Given the description of an element on the screen output the (x, y) to click on. 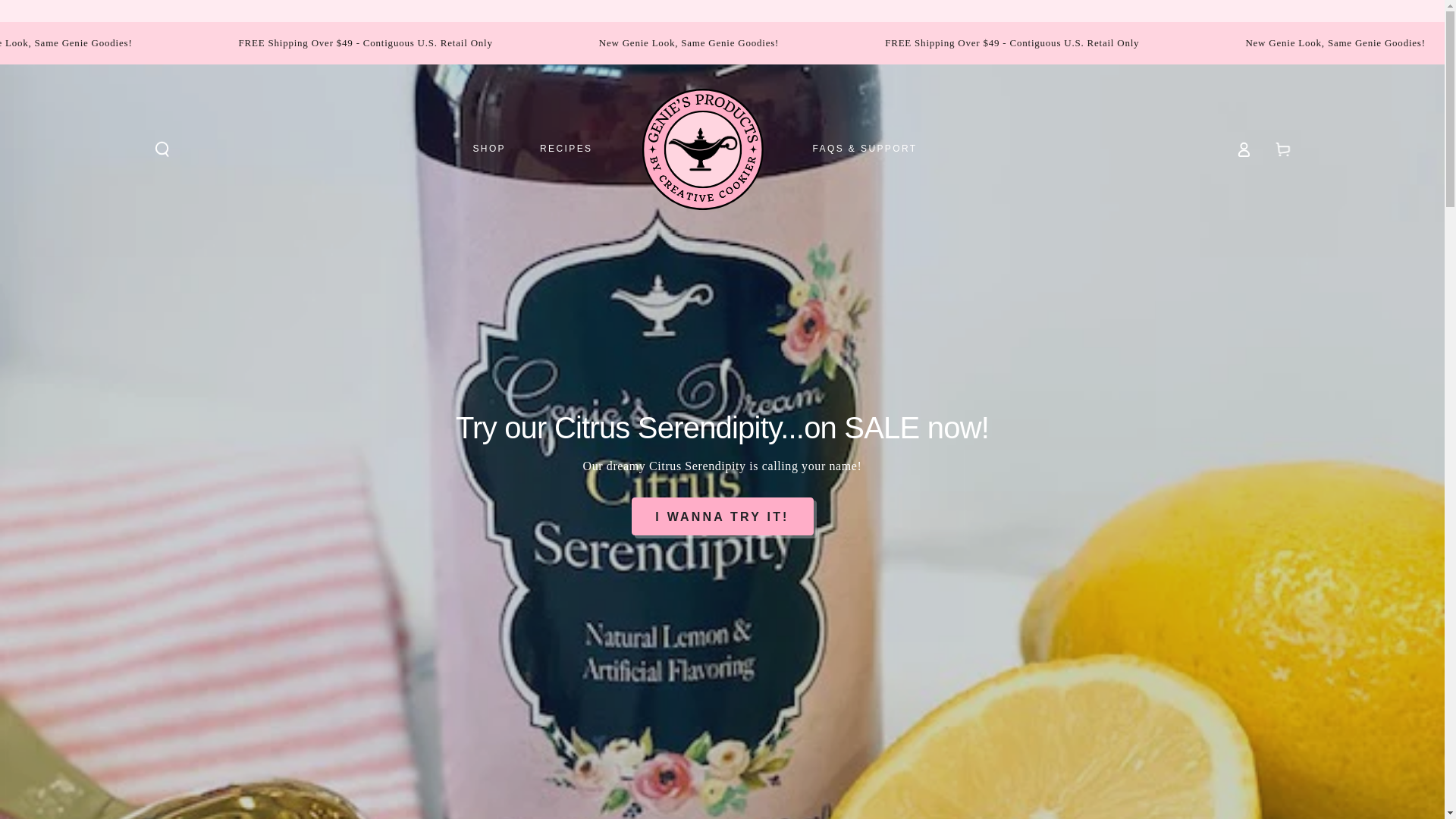
SKIP TO CONTENT (67, 36)
RECIPES (566, 149)
SHOP (488, 149)
